Given the description of an element on the screen output the (x, y) to click on. 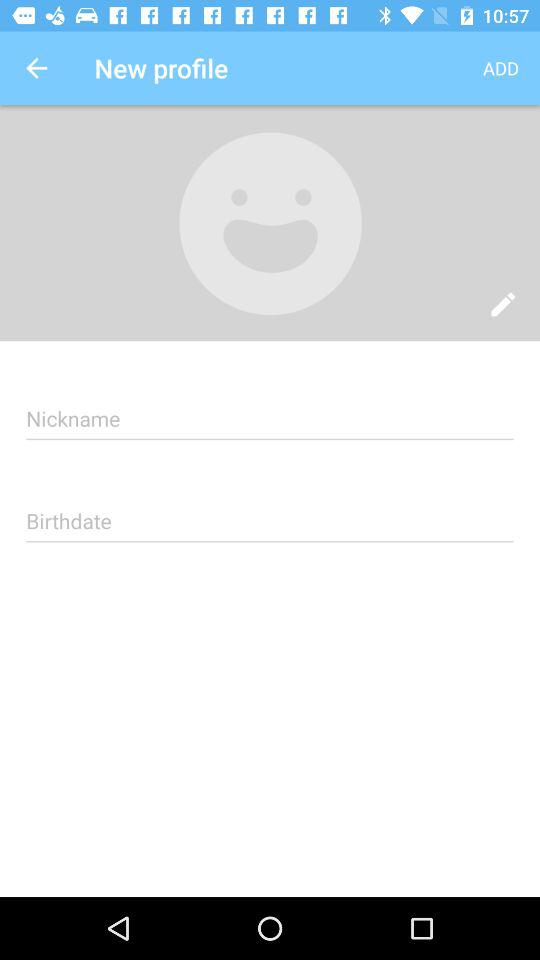
tap the app next to new profile item (500, 67)
